Given the description of an element on the screen output the (x, y) to click on. 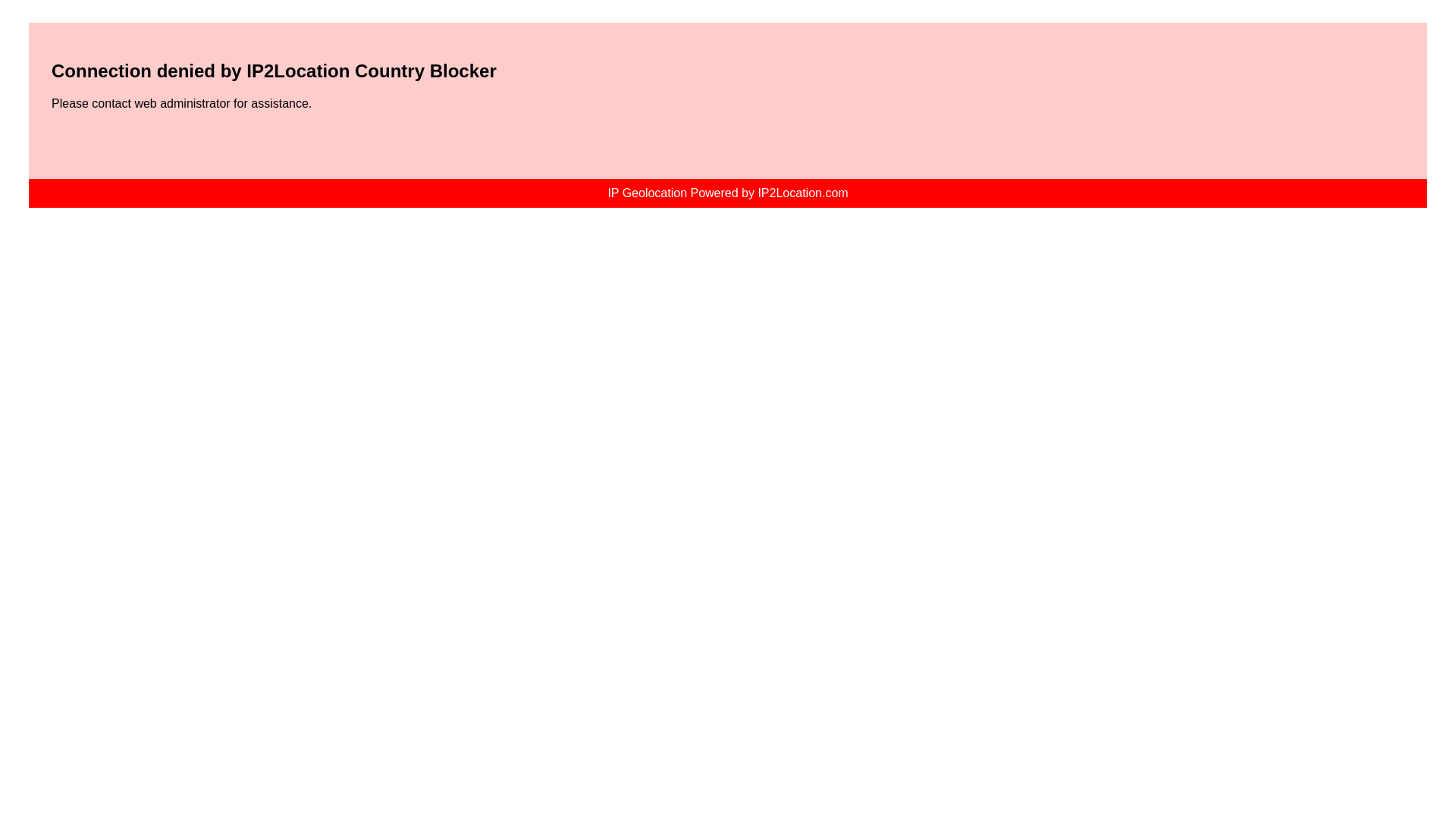
IP Geolocation Powered by IP2Location.com (727, 192)
